Given the description of an element on the screen output the (x, y) to click on. 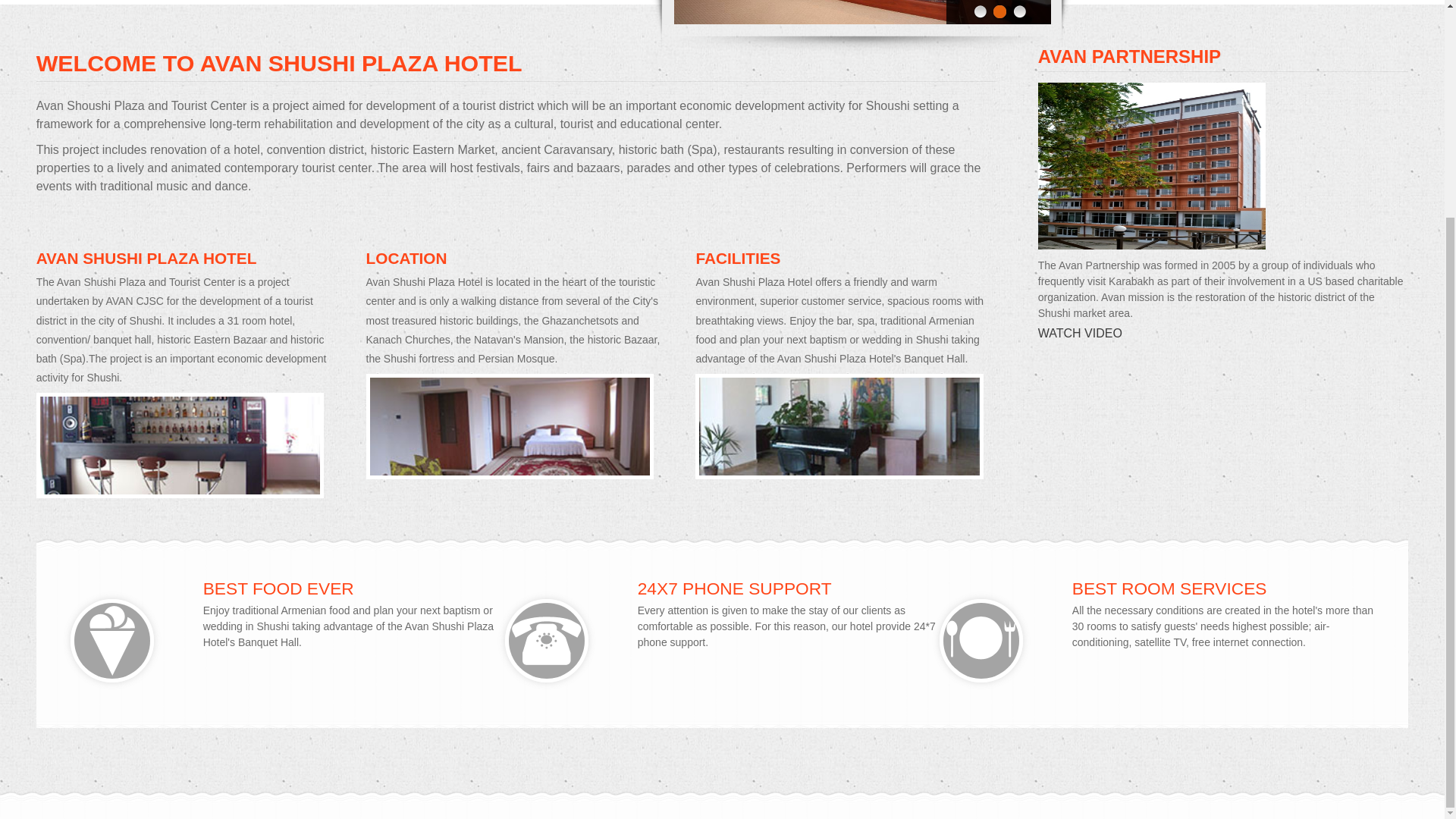
3 (1018, 12)
2 (998, 12)
WATCH VIDEO (1080, 332)
image-name (509, 426)
imnage-name (1151, 165)
image-name (981, 640)
image-name (546, 640)
image-name (179, 445)
image-name (838, 426)
image-name (111, 640)
1 (979, 12)
